Given the description of an element on the screen output the (x, y) to click on. 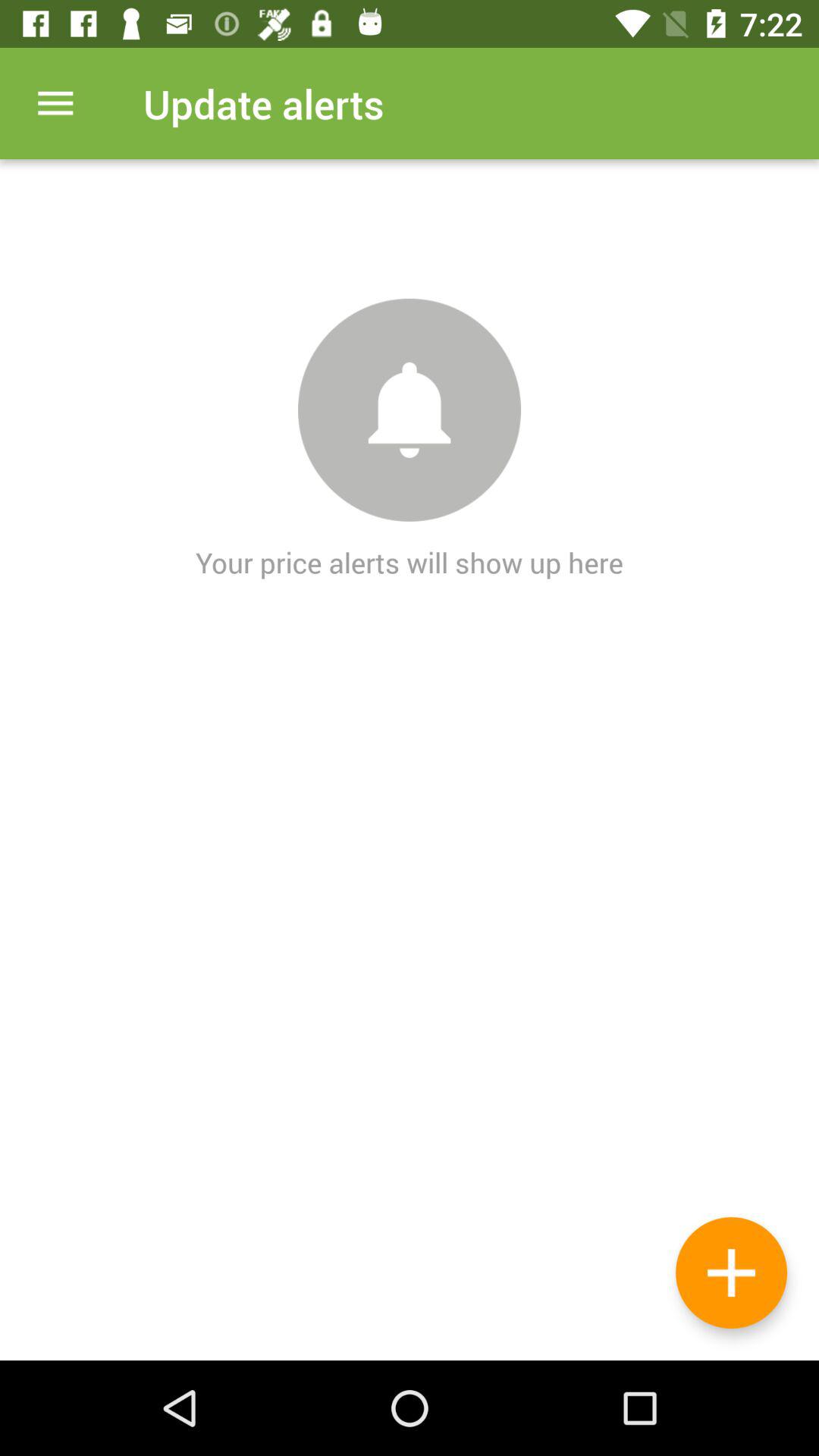
launch the item next to the update alerts (55, 103)
